Given the description of an element on the screen output the (x, y) to click on. 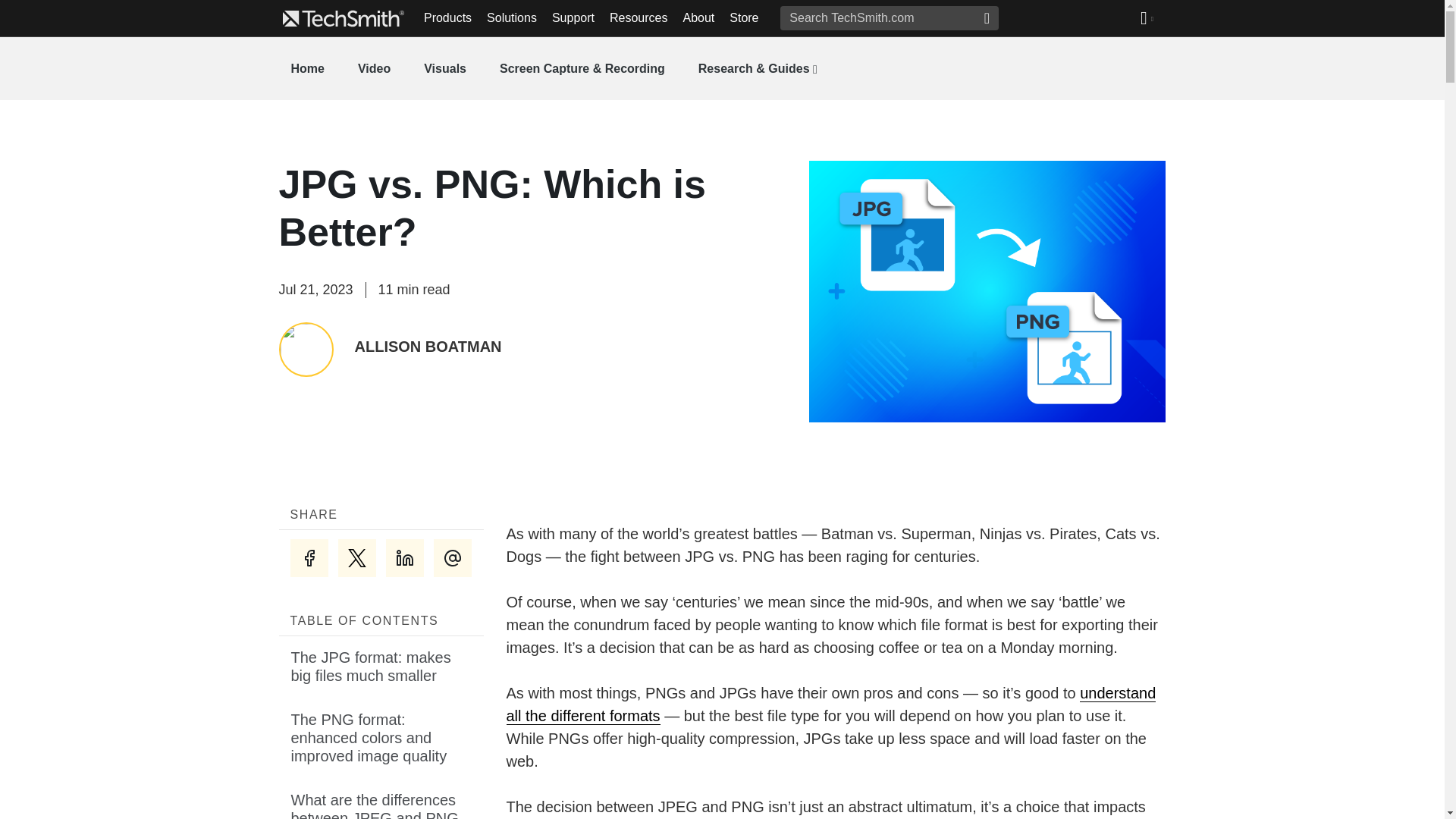
Share by Email (452, 557)
Resources (638, 18)
Support (573, 18)
Products (447, 18)
Solutions (511, 18)
